Given the description of an element on the screen output the (x, y) to click on. 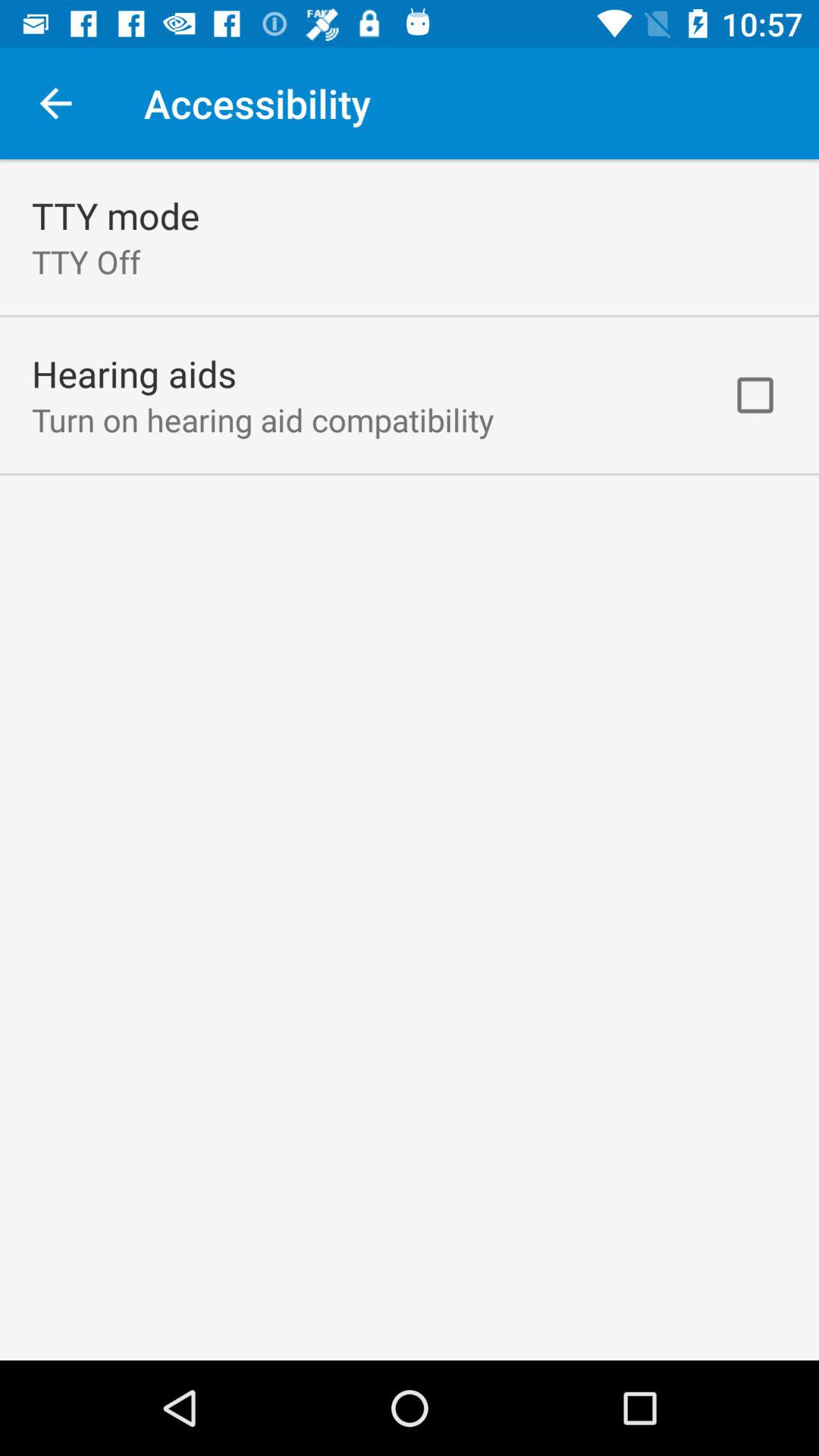
launch the tty off (85, 261)
